Given the description of an element on the screen output the (x, y) to click on. 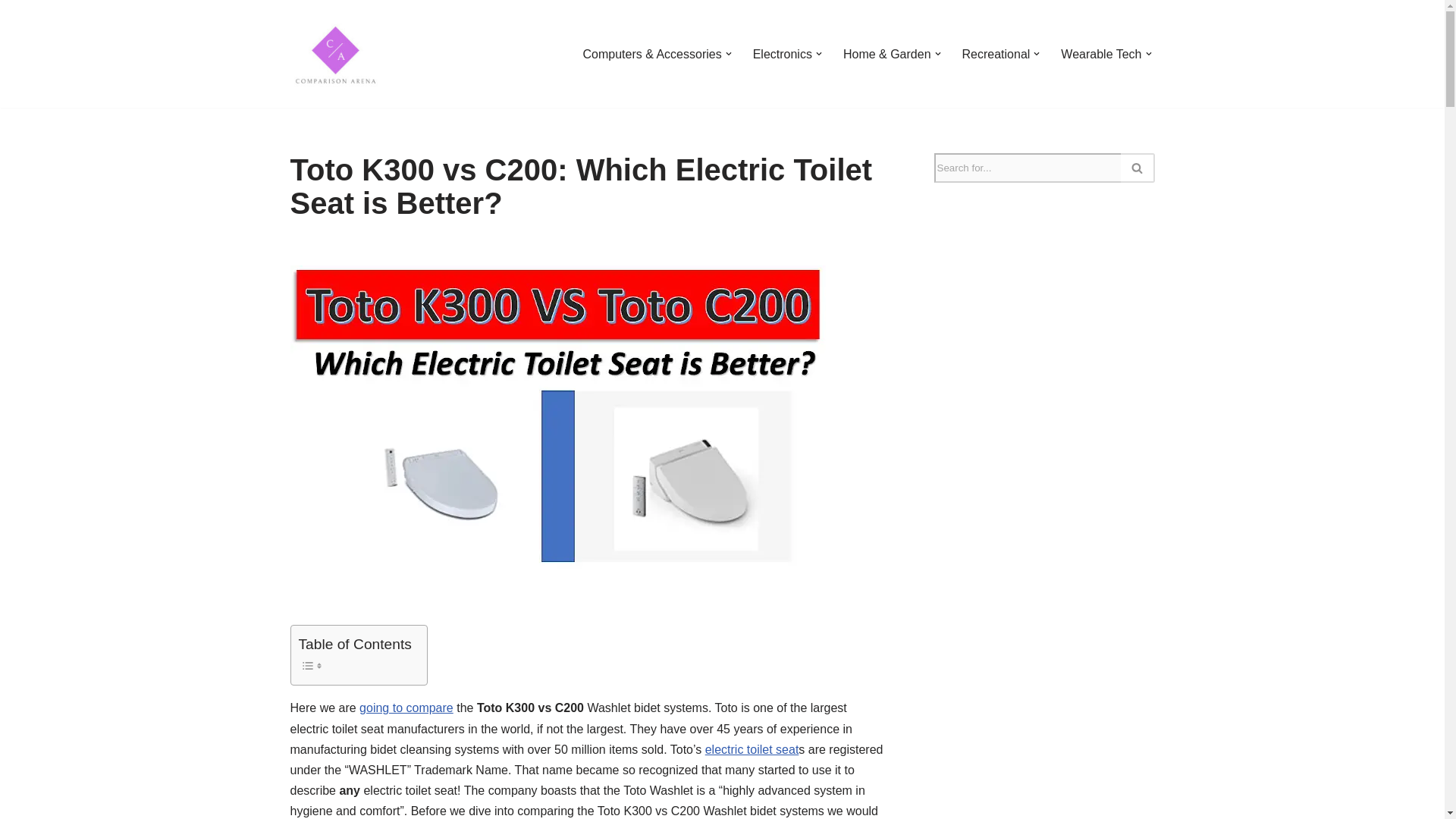
Skip to content (11, 31)
Recreational (996, 54)
Electronics (782, 54)
